Given the description of an element on the screen output the (x, y) to click on. 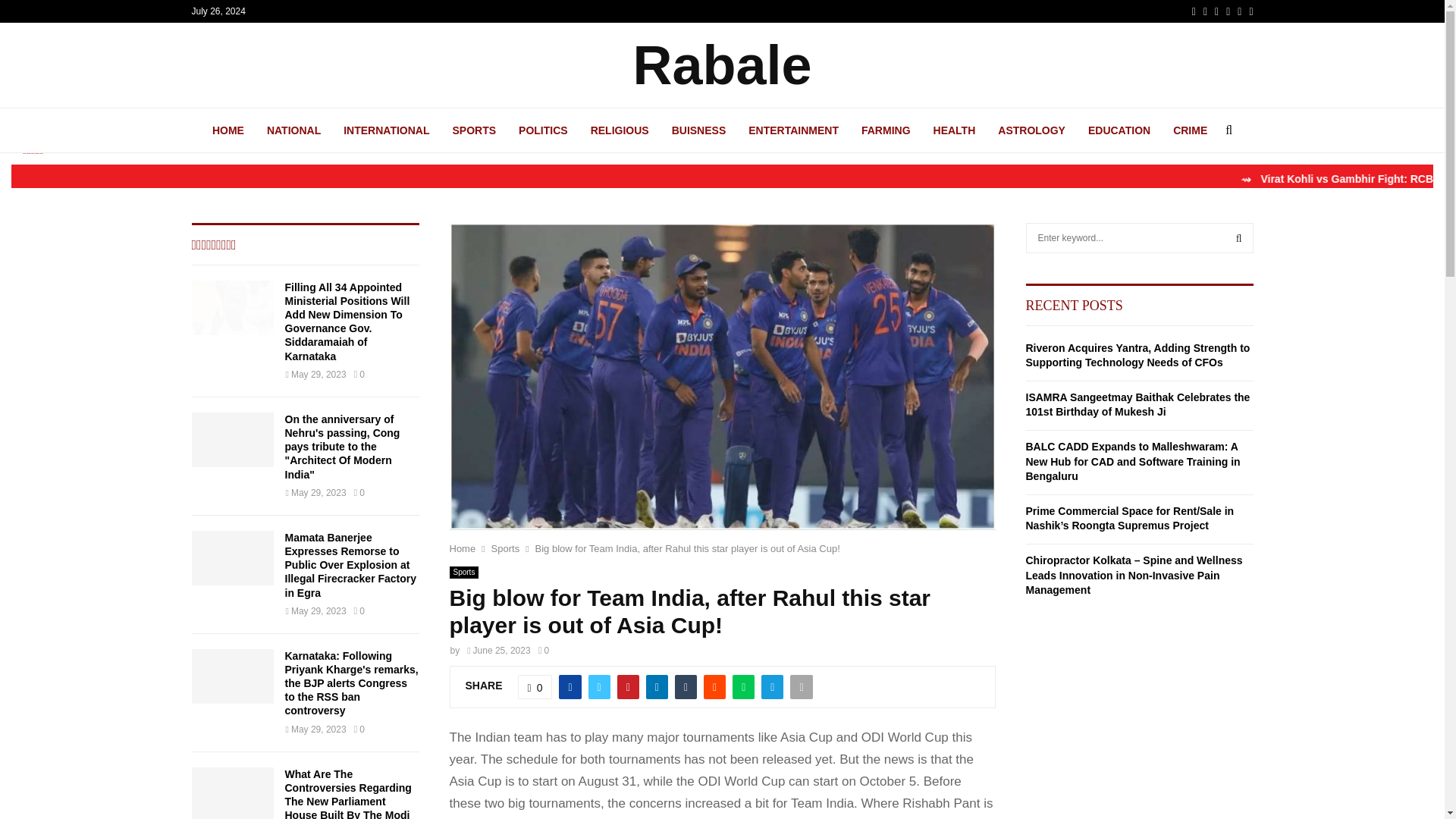
Home (462, 548)
ASTROLOGY (1031, 130)
NATIONAL (293, 130)
FARMING (886, 130)
INTERNATIONAL (386, 130)
EDUCATION (1118, 130)
RELIGIOUS (620, 130)
POLITICS (542, 130)
Rabale (720, 64)
SPORTS (474, 130)
HEALTH (954, 130)
Sports (505, 548)
Sports (463, 572)
Like (535, 686)
